Given the description of an element on the screen output the (x, y) to click on. 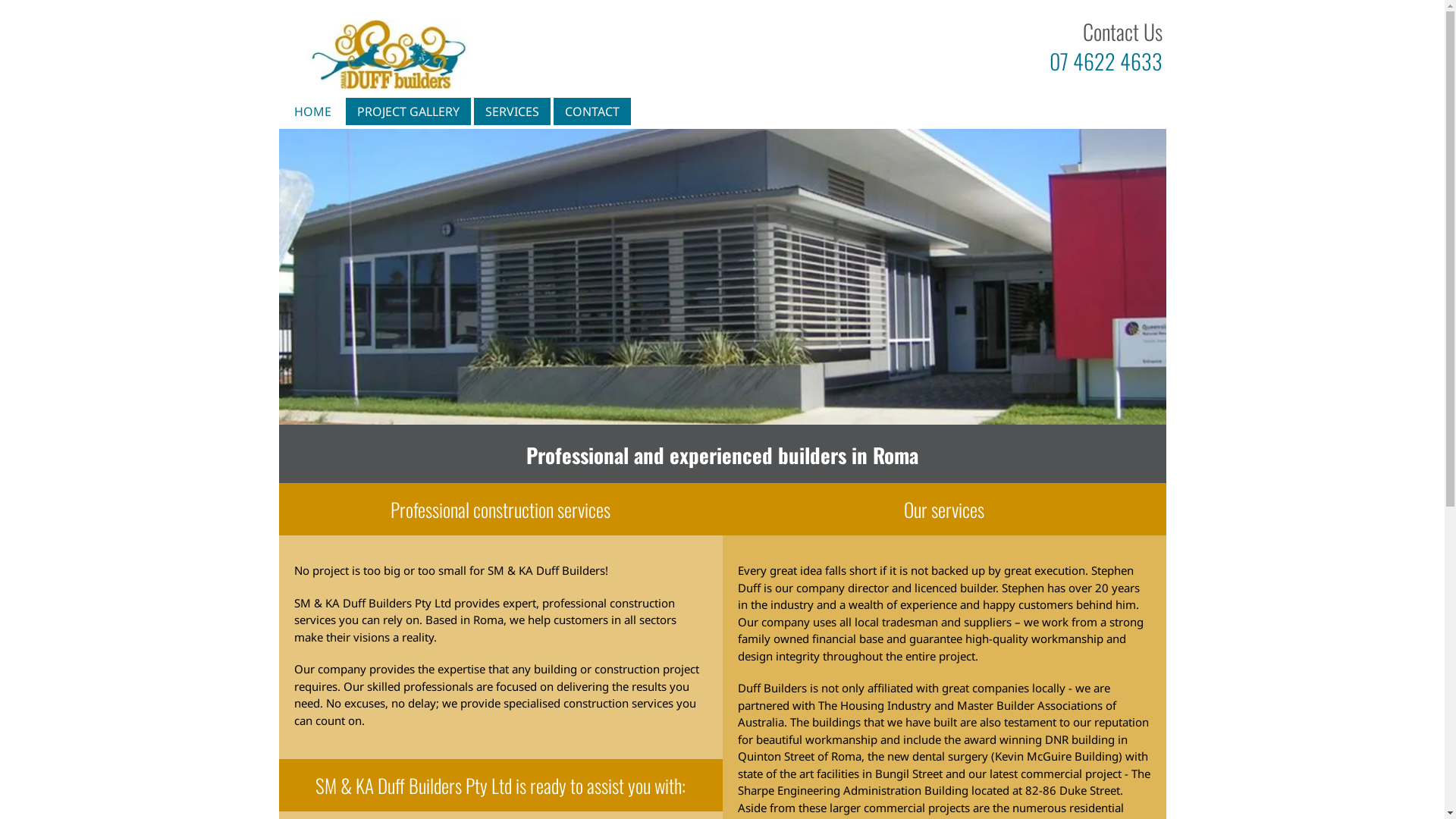
CONTACT Element type: text (591, 111)
sm and ka duff builders exterior Element type: hover (722, 276)
07 4622 4633 Element type: text (1105, 60)
HOME Element type: text (312, 111)
SERVICES Element type: text (512, 111)
sm and ka duff builders logo Element type: hover (389, 54)
PROJECT GALLERY Element type: text (407, 111)
